Given the description of an element on the screen output the (x, y) to click on. 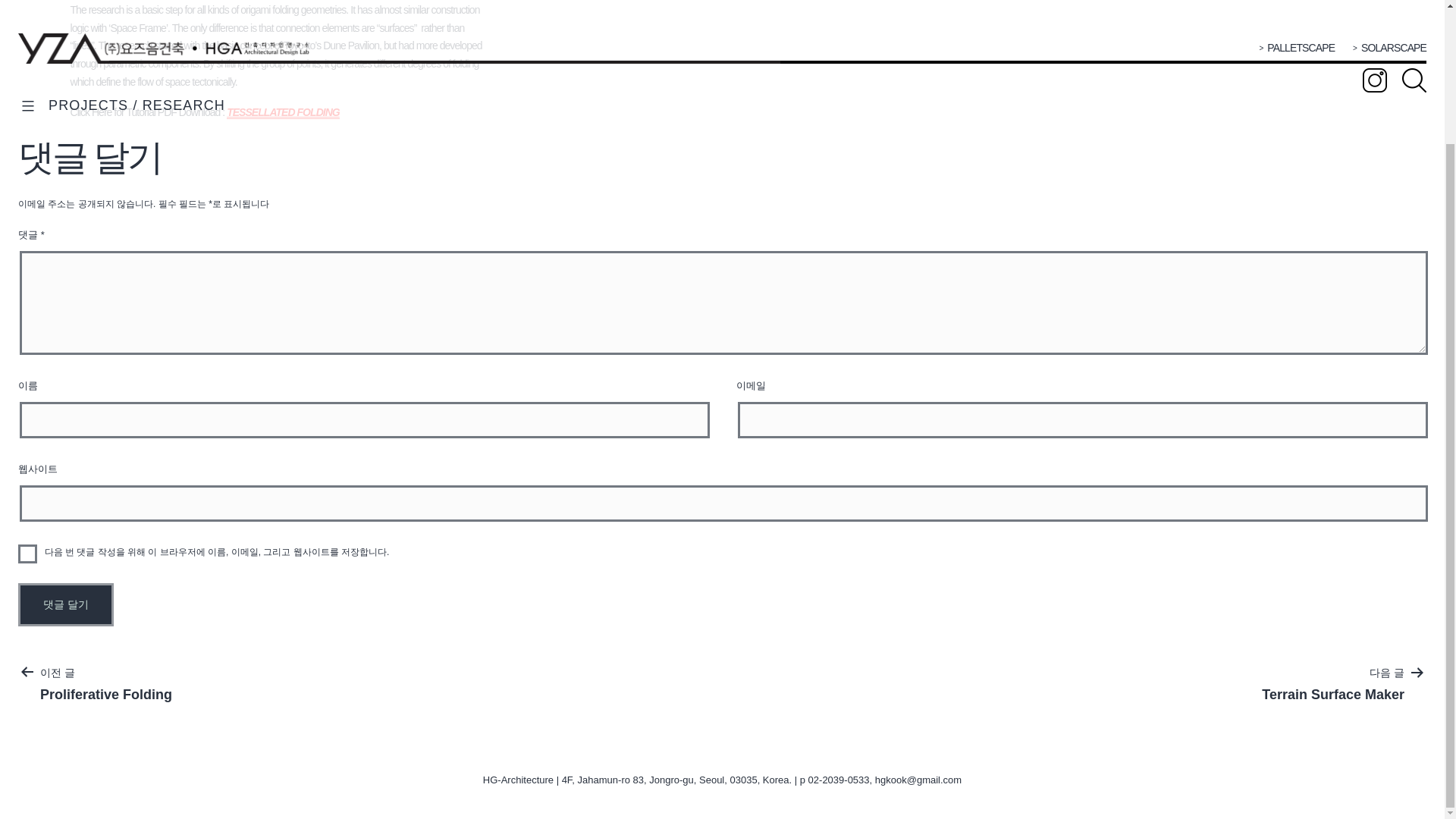
yes (27, 553)
TESSELLATED FOLDING (283, 111)
